Given the description of an element on the screen output the (x, y) to click on. 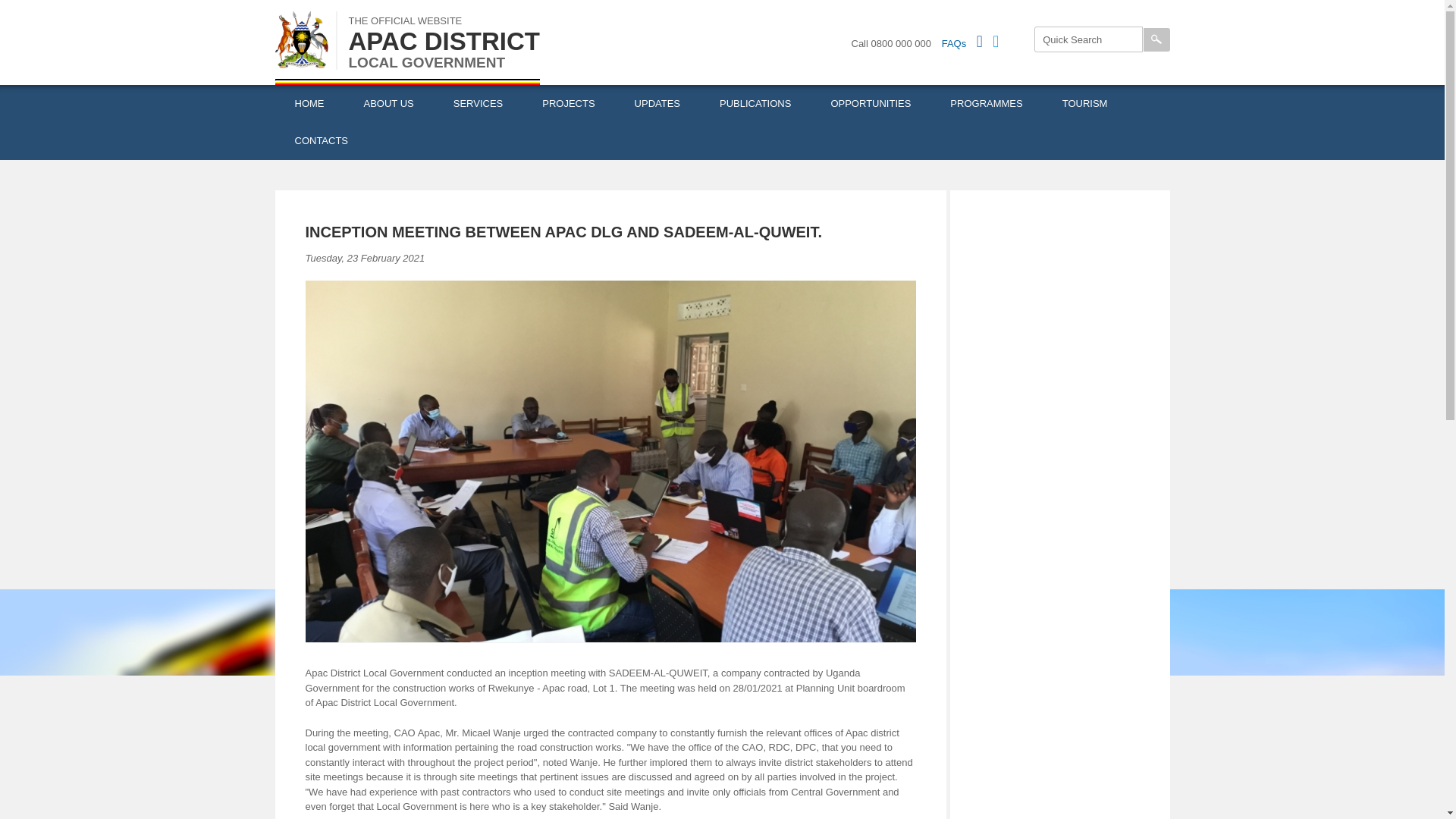
Contacts (321, 140)
ABOUT US (388, 103)
OPPORTUNITIES (870, 103)
Enter the terms you wish to search for. (1087, 39)
Skip to main content (693, 1)
CONTACTS (321, 140)
APAC DISTRICT (444, 41)
SERVICES (477, 103)
UPDATES (657, 103)
FAQs (954, 43)
